Given the description of an element on the screen output the (x, y) to click on. 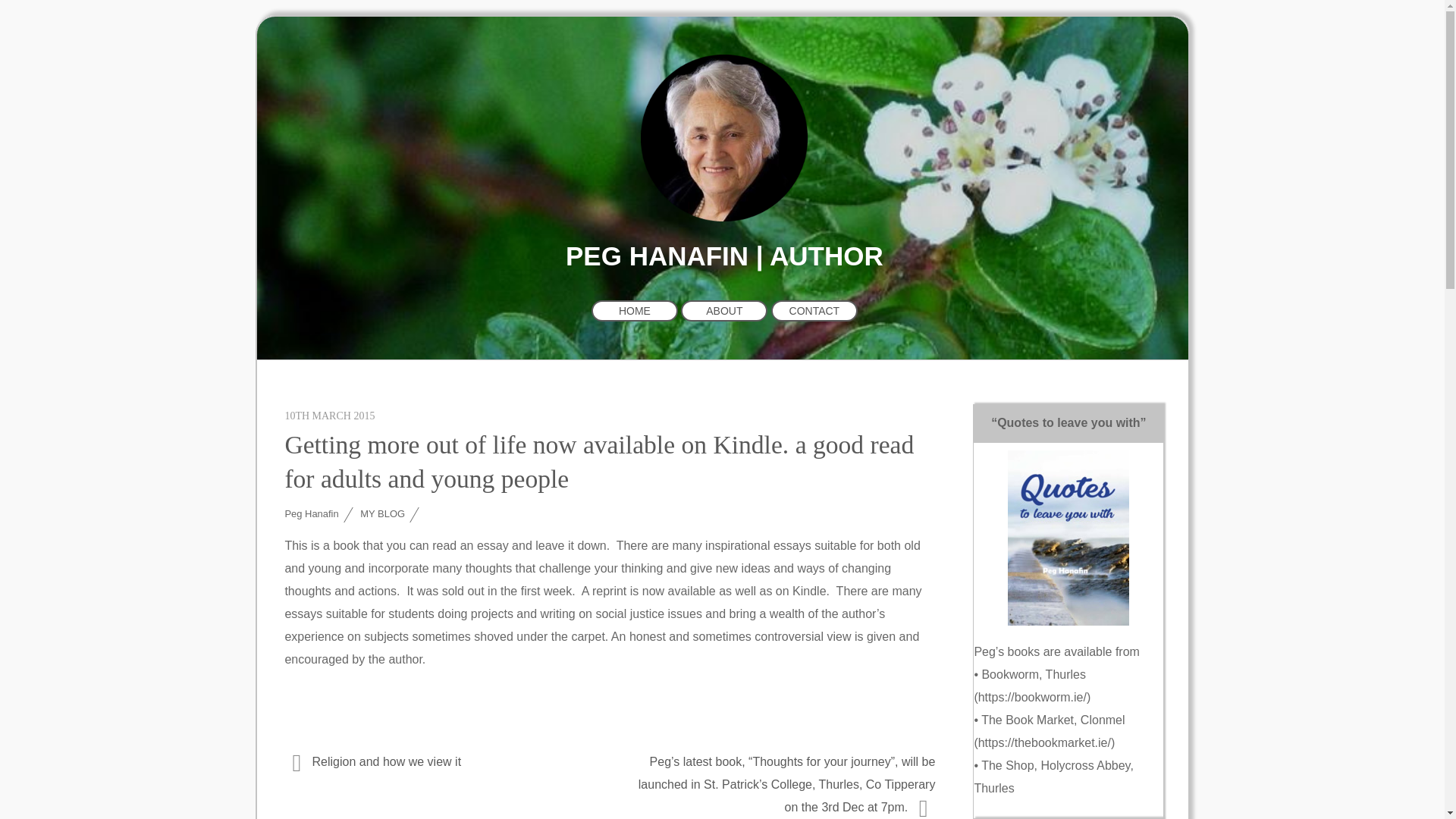
Peg Hanafin (310, 513)
CONTACT (814, 311)
HOME (634, 311)
MY BLOG (381, 513)
Peg Hanafin (724, 137)
Peg Hanafin (724, 209)
Religion and how we view it (436, 762)
Posts by Peg Hanafin (310, 513)
ABOUT (723, 311)
